Given the description of an element on the screen output the (x, y) to click on. 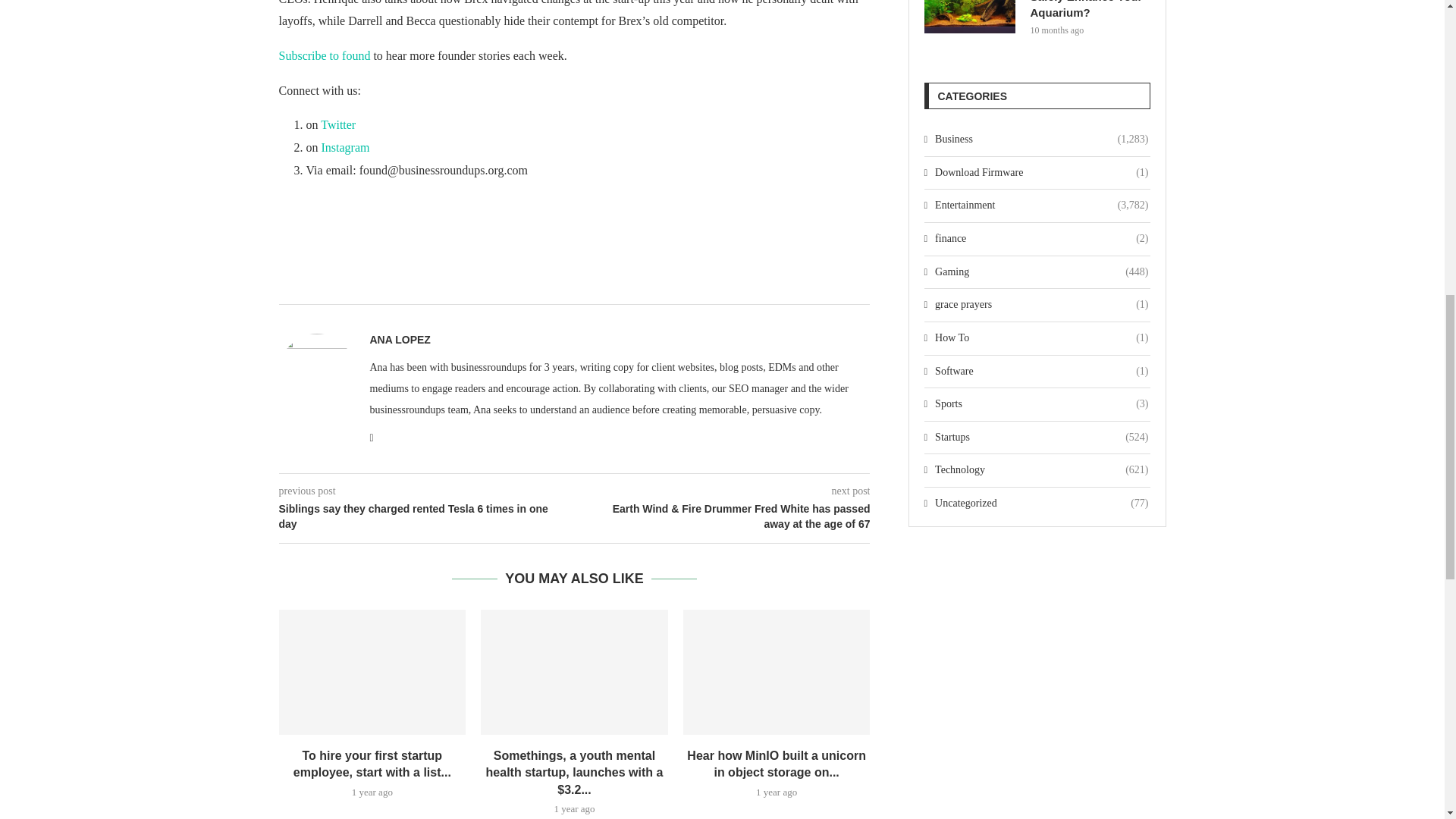
Author Ana Lopez (399, 339)
